Given the description of an element on the screen output the (x, y) to click on. 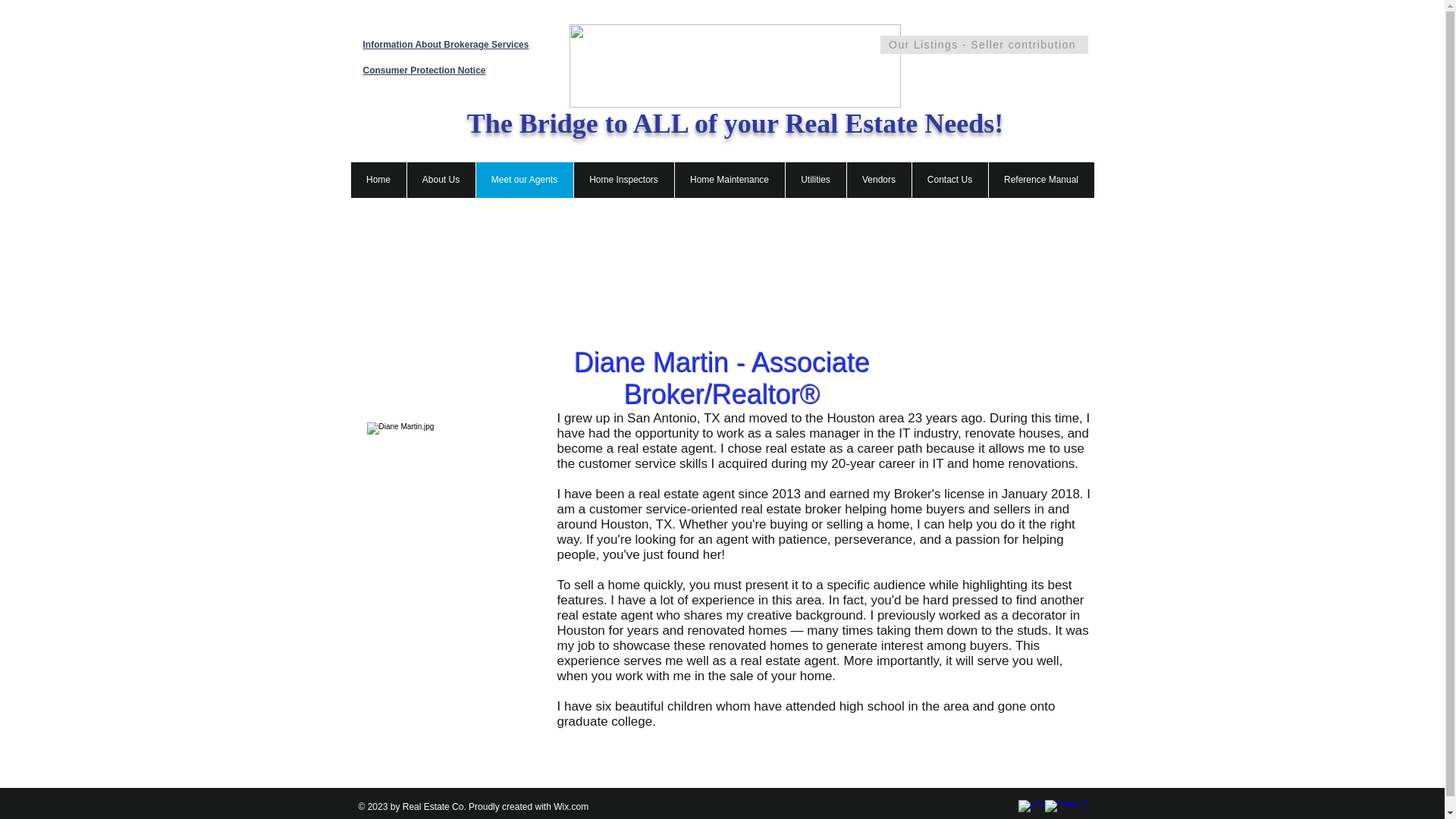
Consumer Protection Notice (423, 70)
Home (378, 180)
Meet our Agents (523, 180)
Information About Brokerage Services (445, 44)
Home Maintenance (728, 180)
About Us (441, 180)
Home Inspectors (623, 180)
